Given the description of an element on the screen output the (x, y) to click on. 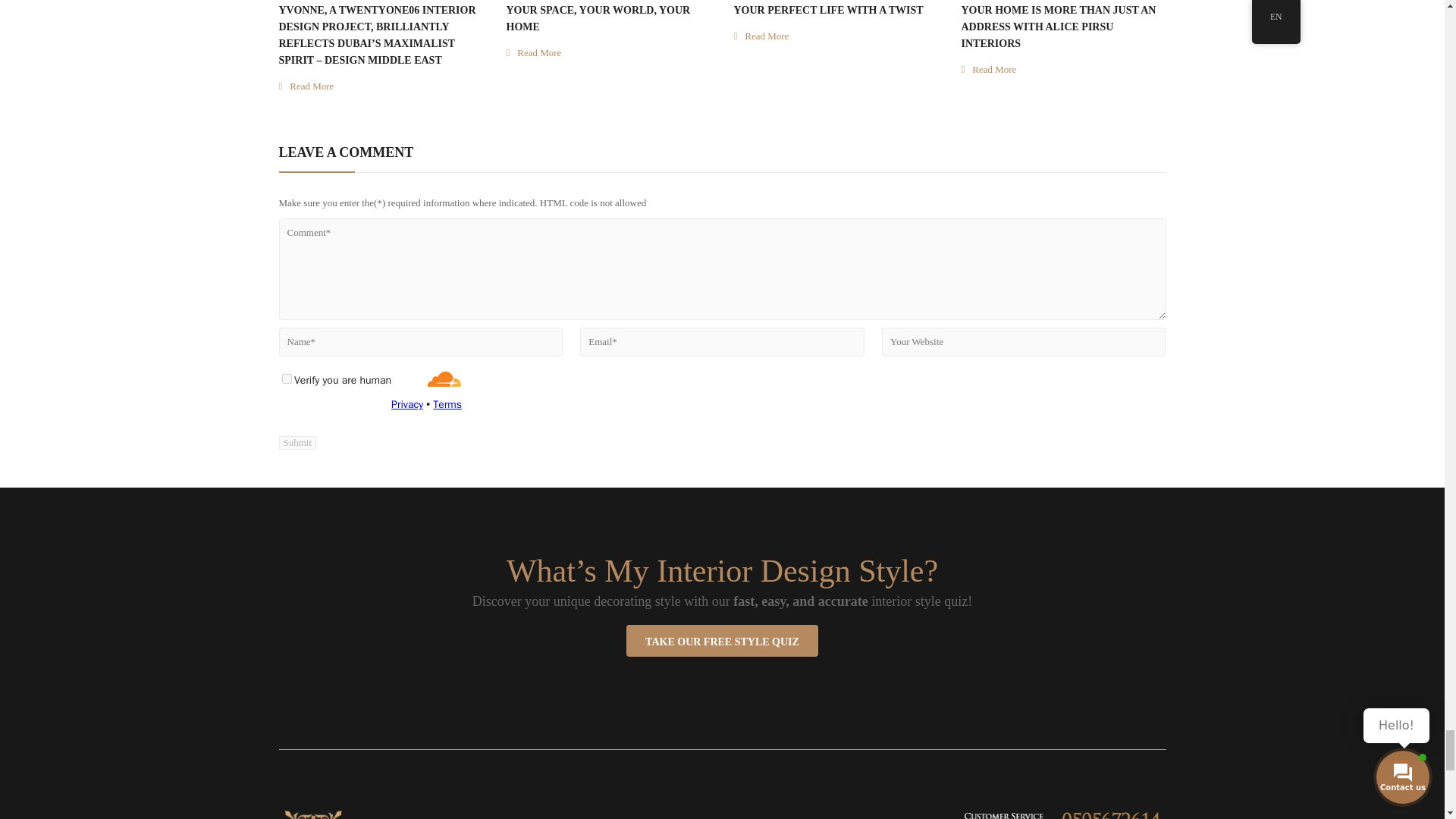
Submit (298, 442)
